Given the description of an element on the screen output the (x, y) to click on. 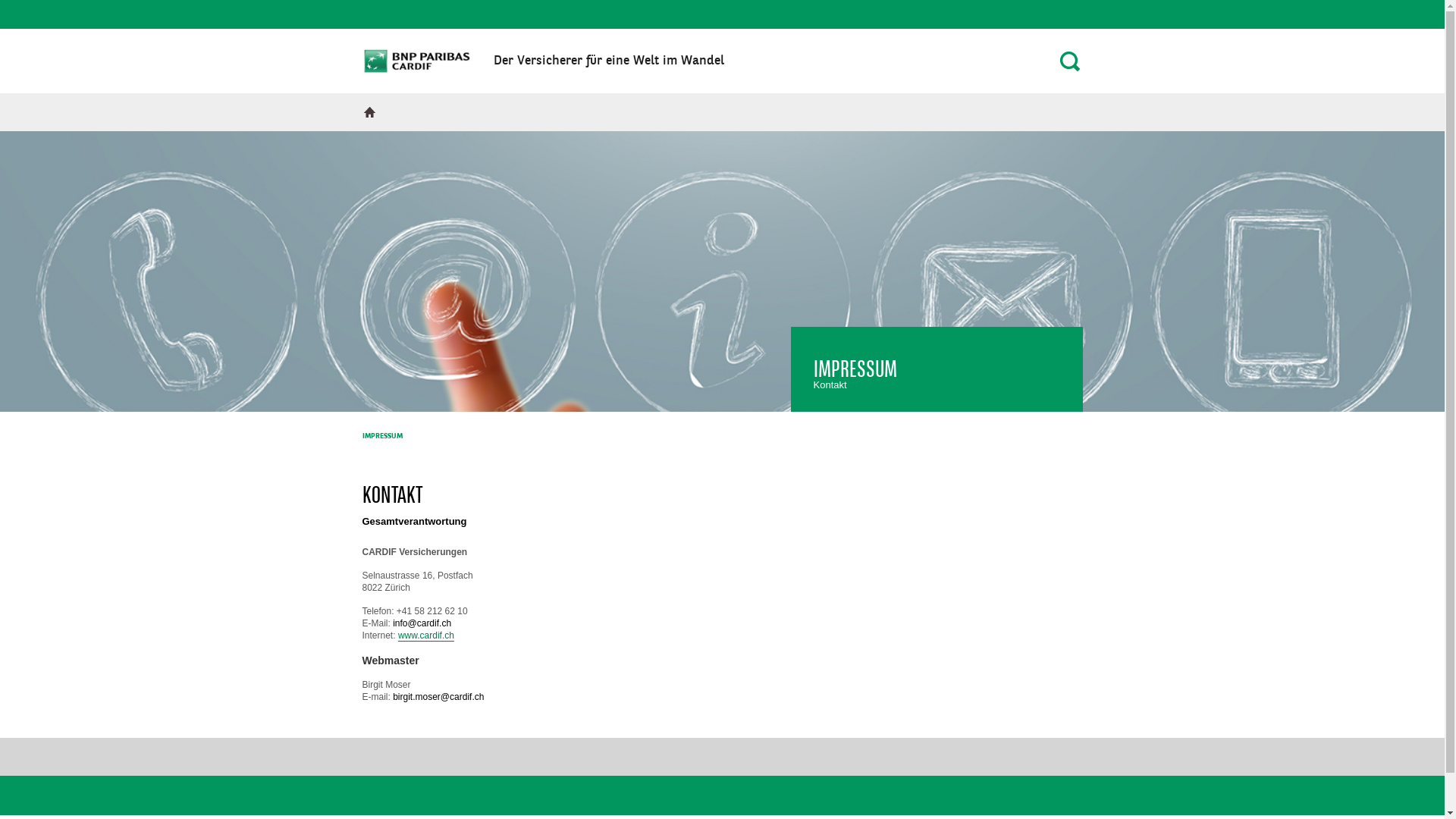
www.cardif.ch Element type: text (426, 634)
info@cardif.ch Element type: text (421, 622)
birgit.moser@cardif.ch Element type: text (437, 696)
